Given the description of an element on the screen output the (x, y) to click on. 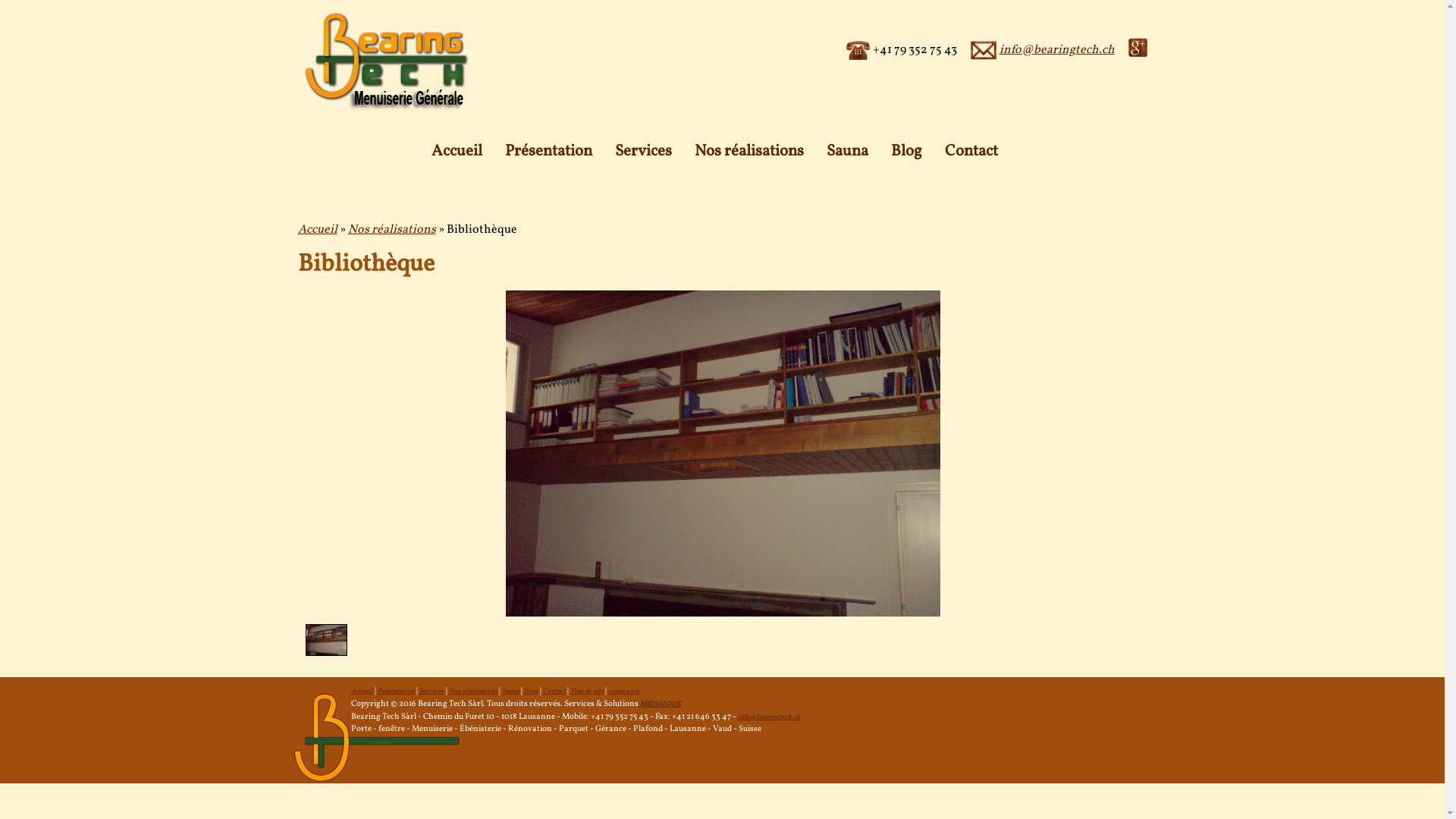
Services Element type: text (643, 151)
connexion Element type: text (623, 691)
Accueil Element type: text (456, 151)
Accueil Element type: text (361, 691)
info@bearingtech.ch Element type: text (1056, 49)
info@bearingtech.ch Element type: text (768, 716)
Plan de site Element type: text (586, 691)
Services Element type: text (430, 691)
Contact Element type: text (553, 691)
Sauna Element type: text (510, 691)
Accueil Element type: text (316, 229)
Sauna Element type: text (847, 151)
MEDIALOOK Element type: text (660, 704)
Blog Element type: text (906, 151)
Contact Element type: text (971, 151)
Aller au contenu principal Element type: text (649, 0)
Blog Element type: text (530, 691)
